Given the description of an element on the screen output the (x, y) to click on. 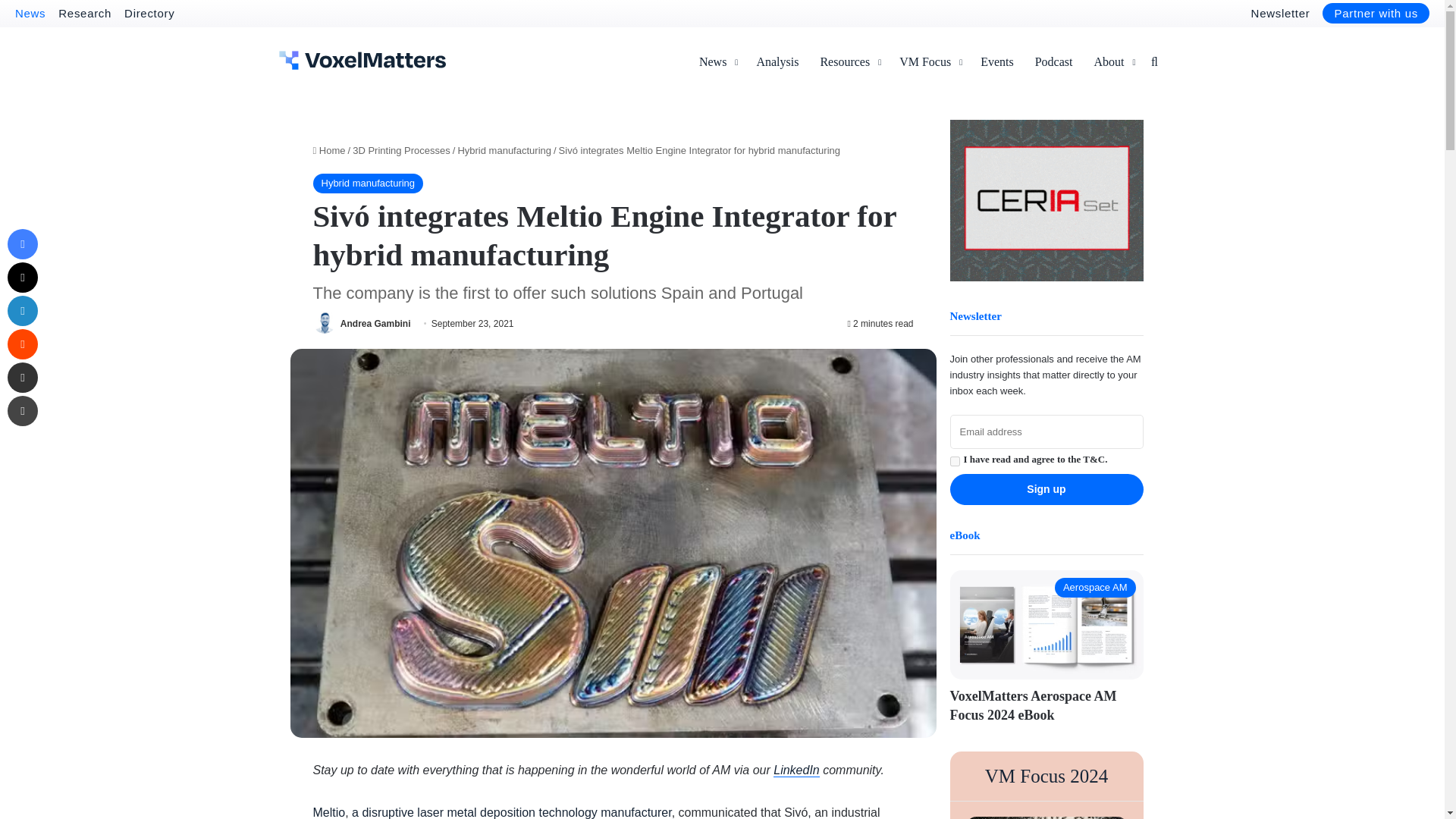
Newsletter (1280, 12)
Reddit (22, 344)
Resources (848, 62)
1 (954, 461)
VoxelMatters - The heart of additive manufacturing (362, 60)
LinkedIn (22, 310)
Andrea Gambini (375, 323)
Print (22, 410)
News (716, 62)
Partner with us (1375, 13)
News (29, 12)
Directory (148, 12)
Share via Email (22, 377)
Research (85, 12)
X (22, 277)
